Given the description of an element on the screen output the (x, y) to click on. 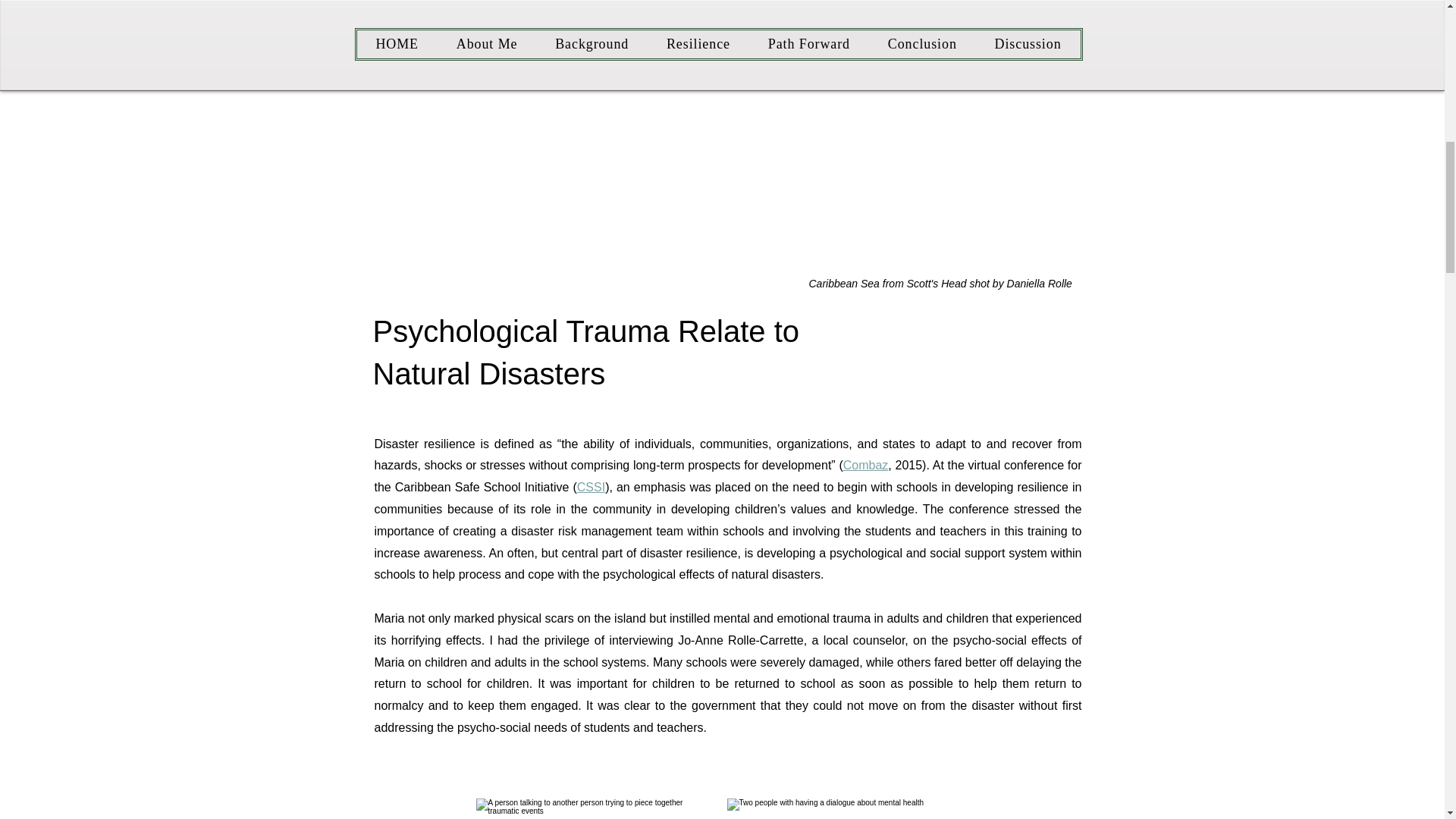
CSSI (590, 486)
Combaz (865, 464)
